Given the description of an element on the screen output the (x, y) to click on. 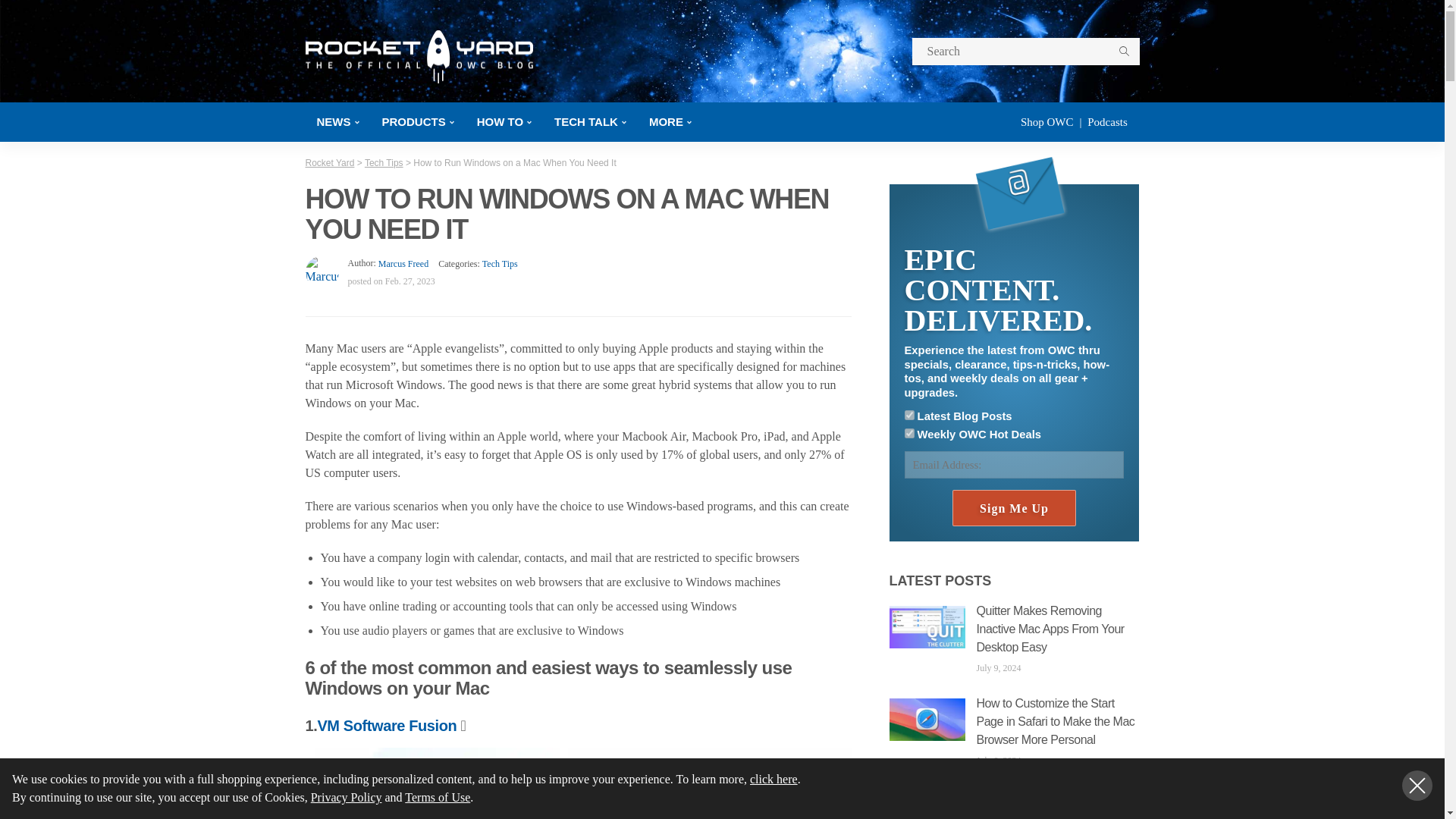
Sign Me Up (1013, 507)
0bcd03ec00000000000000000000001f995c (909, 415)
search for: (1024, 51)
Go to the Tech Tips category archives. (384, 163)
NEWS (336, 121)
Go to Rocket Yard. (328, 163)
Tech Tips (499, 263)
